Given the description of an element on the screen output the (x, y) to click on. 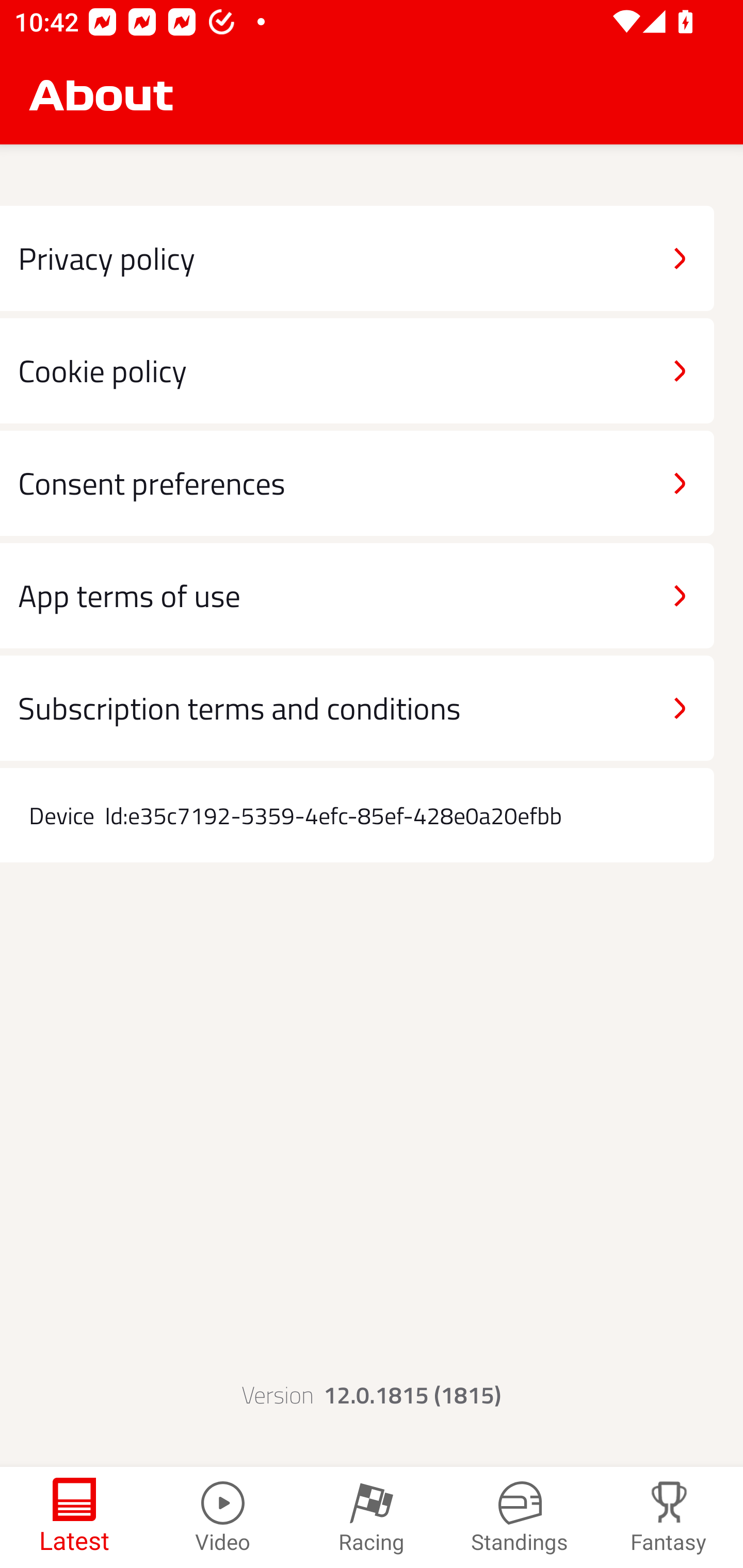
Privacy policy (357, 257)
Cookie policy (357, 370)
Consent preferences (357, 483)
App terms of use (357, 594)
Subscription terms and conditions (357, 707)
Device  Id:e35c7192-5359-4efc-85ef-428e0a20efbb (357, 815)
Video (222, 1517)
Racing (371, 1517)
Standings (519, 1517)
Fantasy (668, 1517)
